Given the description of an element on the screen output the (x, y) to click on. 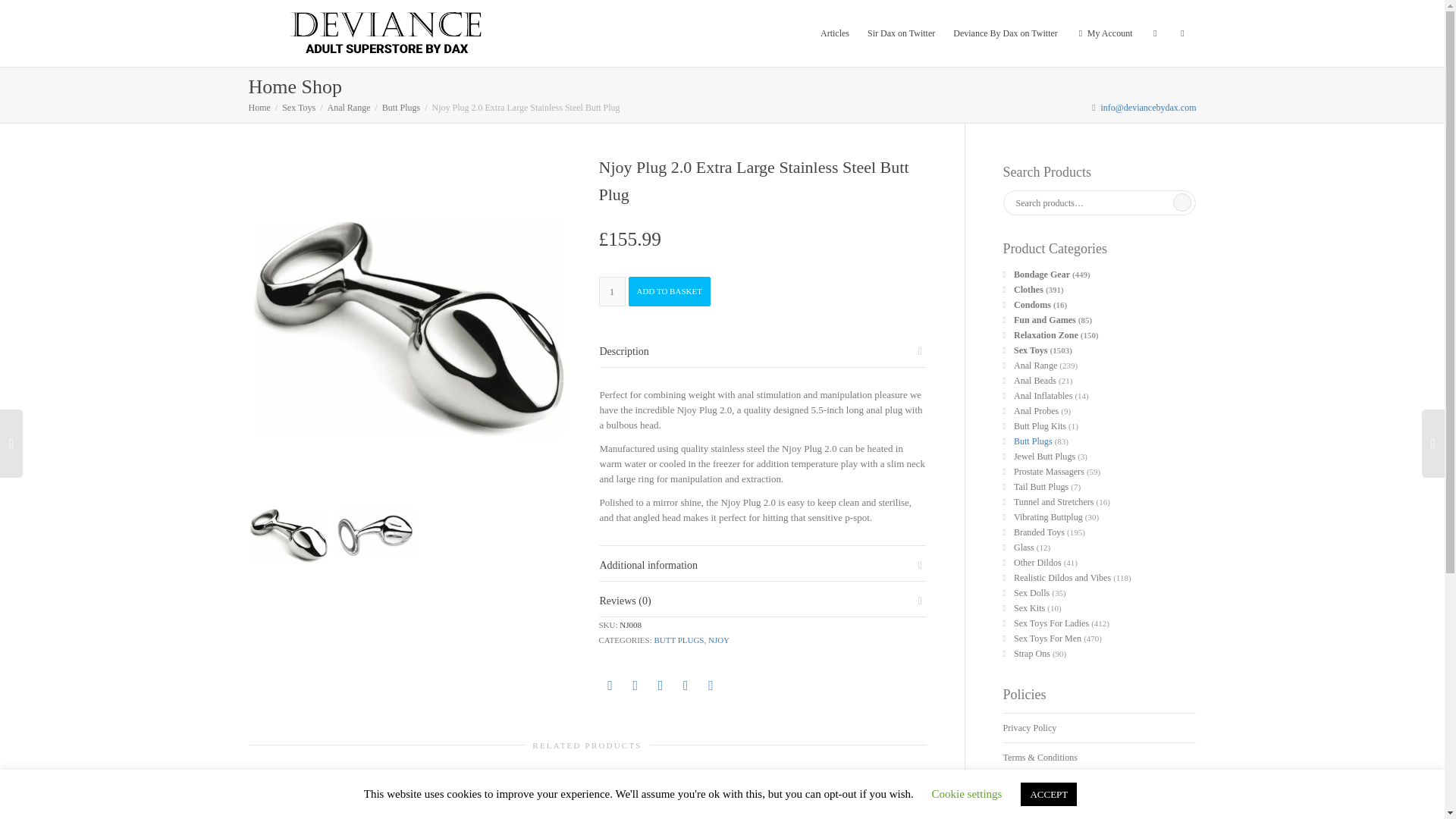
Search (1181, 202)
NJOY (718, 639)
Anal Range (347, 107)
nj008x1.jpg (412, 317)
Deviance by Dax (386, 33)
ADD TO BASKET (668, 291)
BUTT PLUGS (678, 639)
Qty (612, 291)
nj008x1.jpg (289, 533)
nj008x2.jpg (373, 533)
Sir Dax on Twitter (900, 33)
Search (1181, 202)
Sex Toys (298, 107)
Sir Dax on Twitter (900, 33)
Butt Plugs (400, 107)
